Given the description of an element on the screen output the (x, y) to click on. 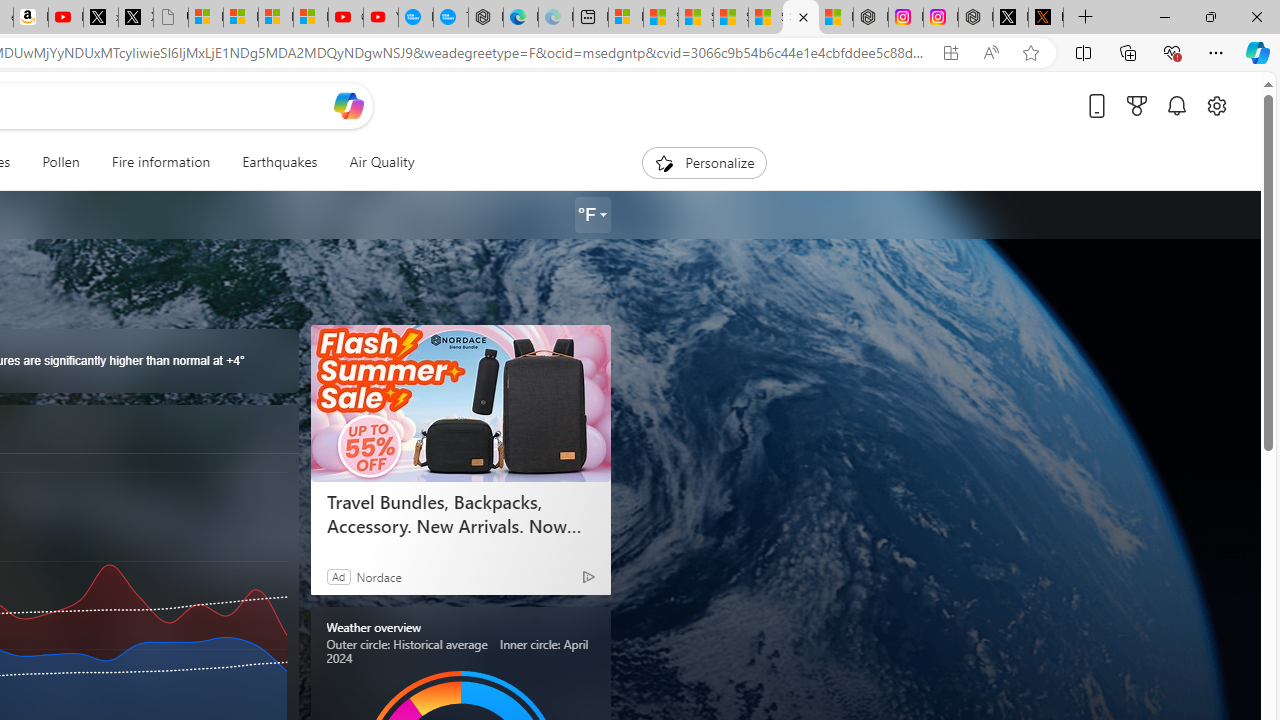
App available. Install Microsoft Start Weather (950, 53)
The most popular Google 'how to' searches (450, 17)
Air Quality (381, 162)
Untitled (170, 17)
Shanghai, China hourly forecast | Microsoft Weather (695, 17)
